Given the description of an element on the screen output the (x, y) to click on. 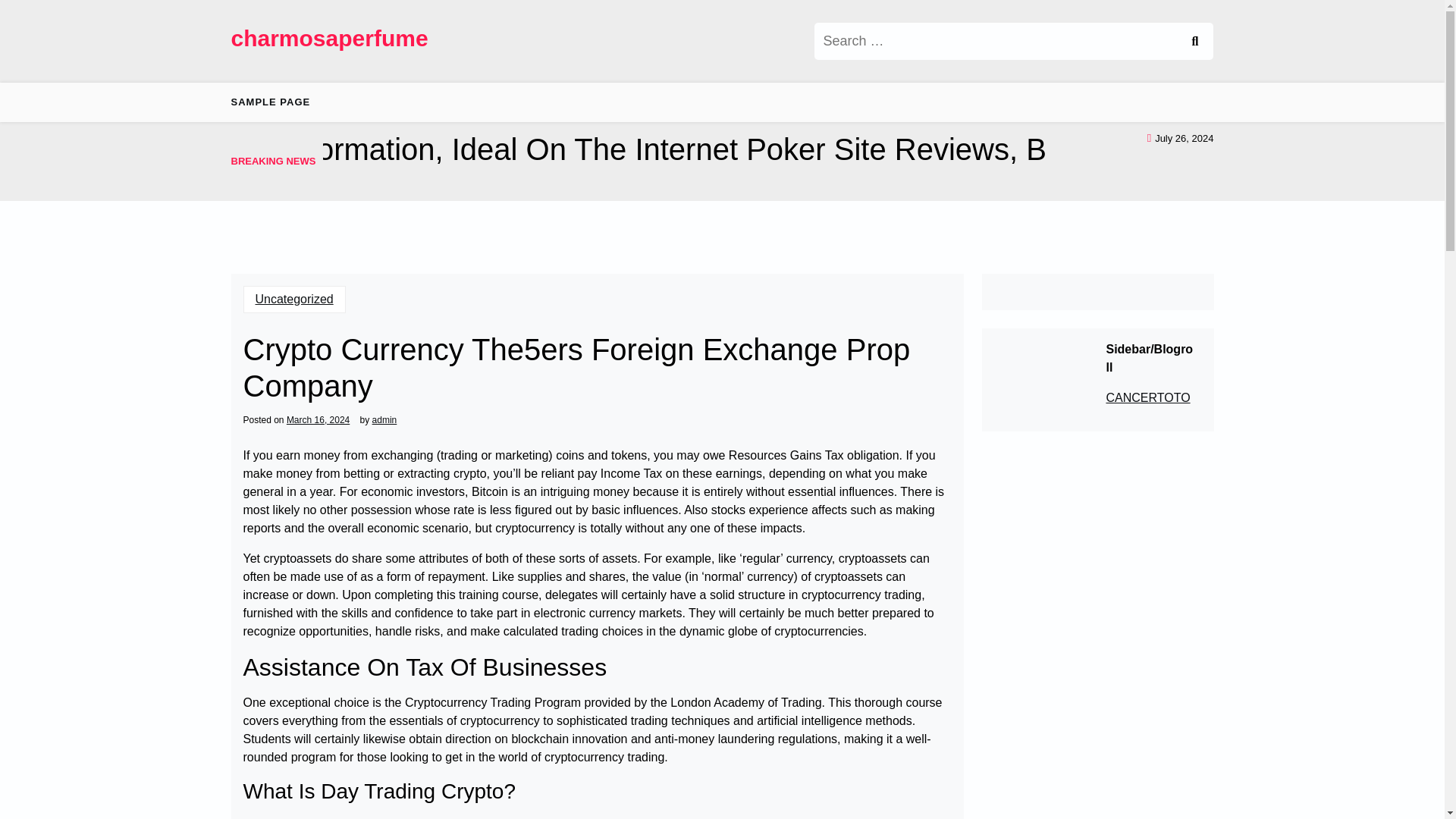
admin (384, 420)
Search (1193, 40)
CANCERTOTO (1147, 397)
March 16, 2024 (317, 420)
Search (1193, 40)
charmosaperfume (329, 37)
Uncategorized (294, 298)
SAMPLE PAGE (275, 102)
Search (1193, 40)
